Given the description of an element on the screen output the (x, y) to click on. 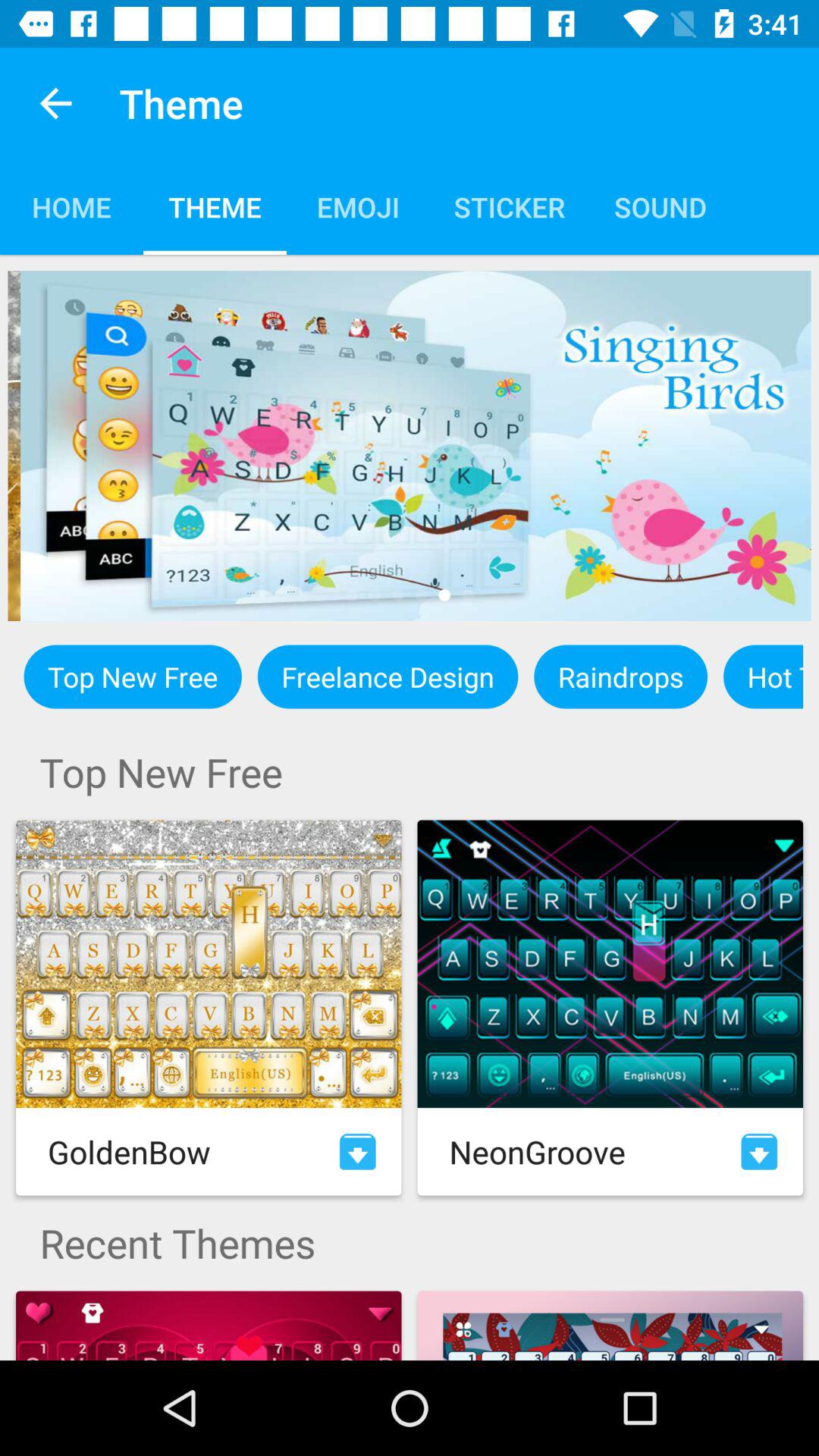
select icon next to raindrops (387, 676)
